Given the description of an element on the screen output the (x, y) to click on. 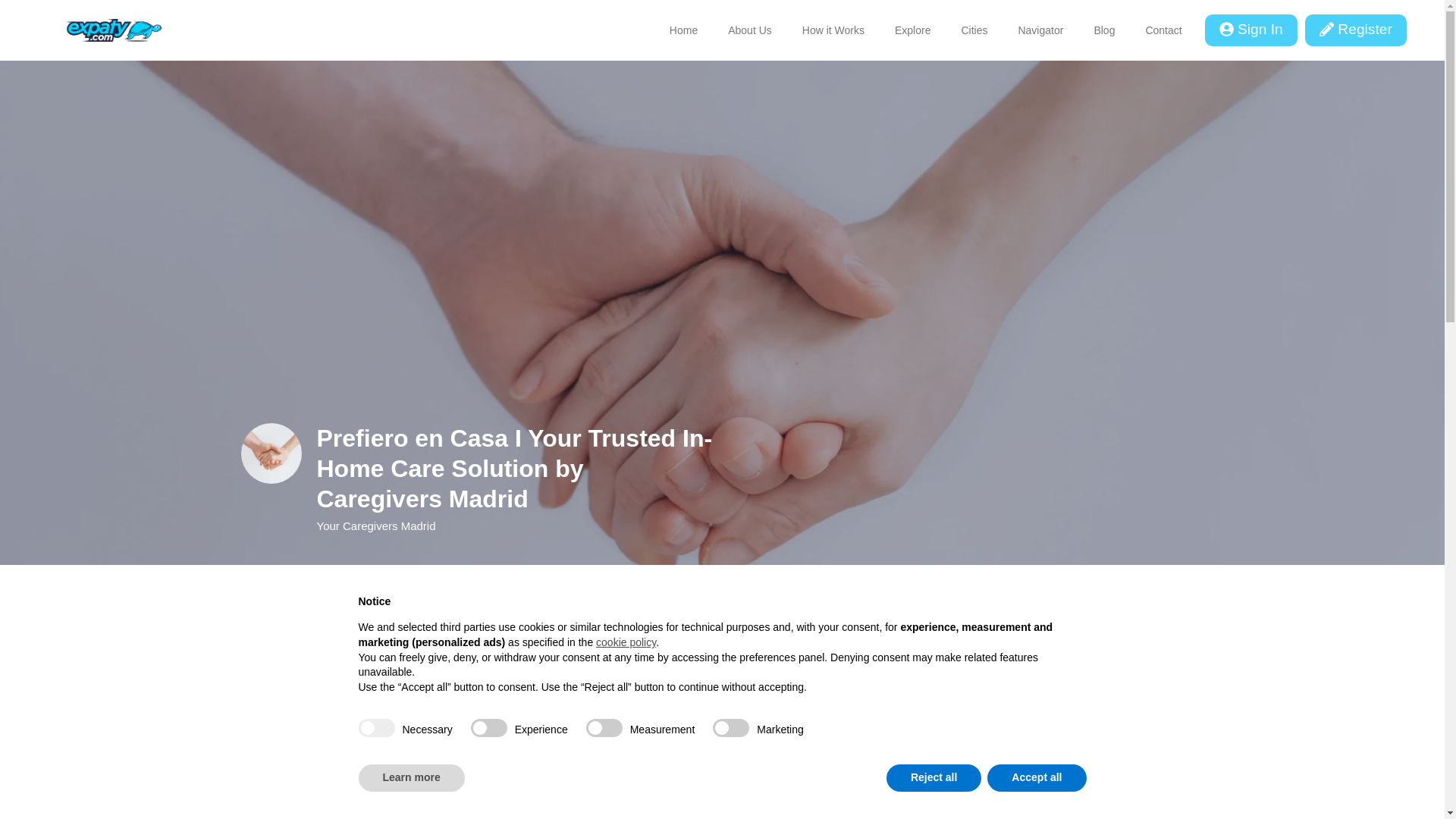
Blog (1103, 30)
About Us (750, 30)
Home (683, 30)
false (731, 728)
How it Works (833, 30)
Navigator (1040, 30)
false (488, 728)
true (376, 728)
Explore (911, 30)
Cities (973, 30)
false (604, 728)
Contact (1162, 30)
